Given the description of an element on the screen output the (x, y) to click on. 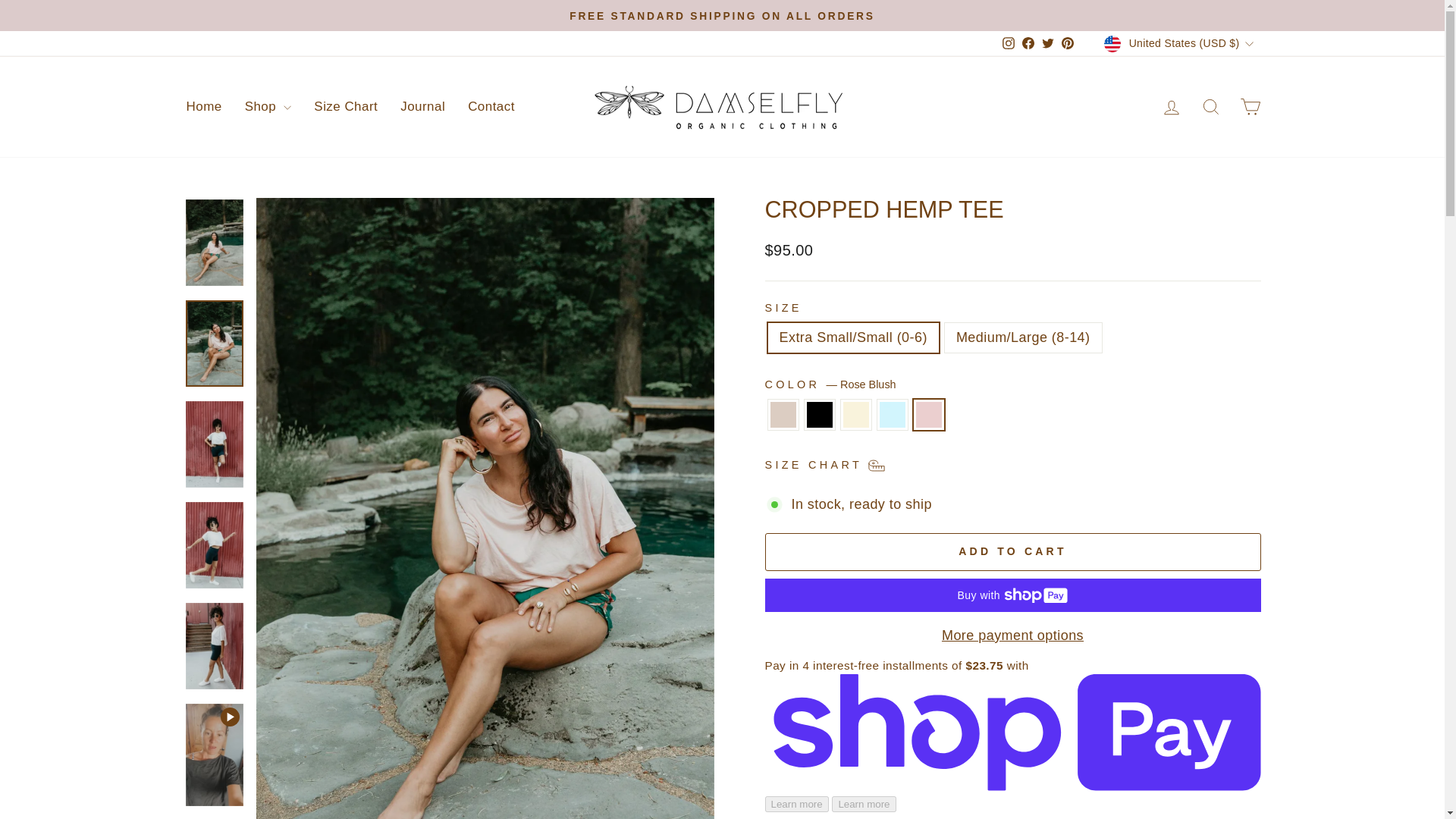
account (1170, 107)
twitter (1048, 42)
instagram (1008, 42)
icon-search (1210, 106)
